Given the description of an element on the screen output the (x, y) to click on. 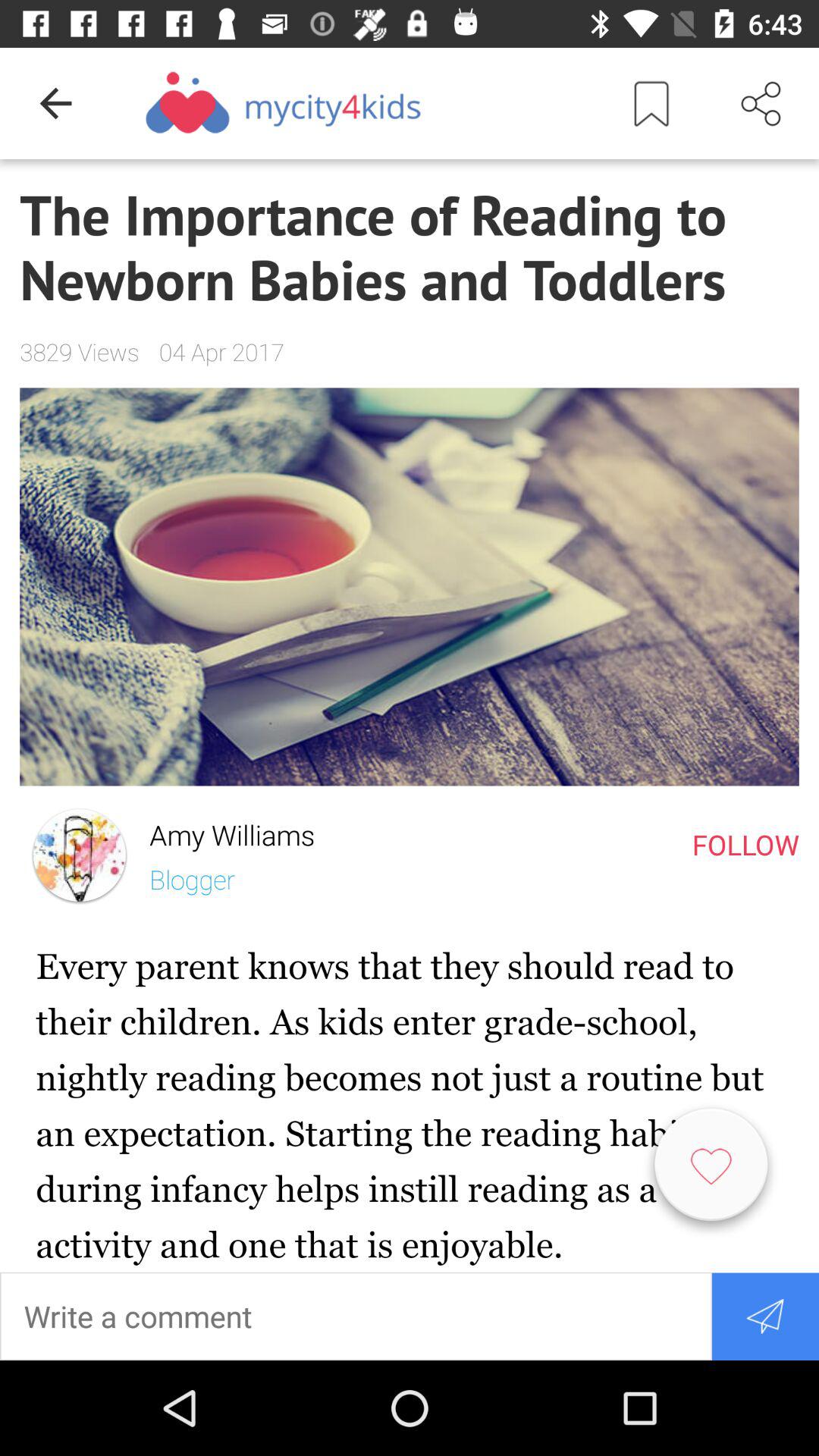
turn on the item next to the amy williams (79, 855)
